Given the description of an element on the screen output the (x, y) to click on. 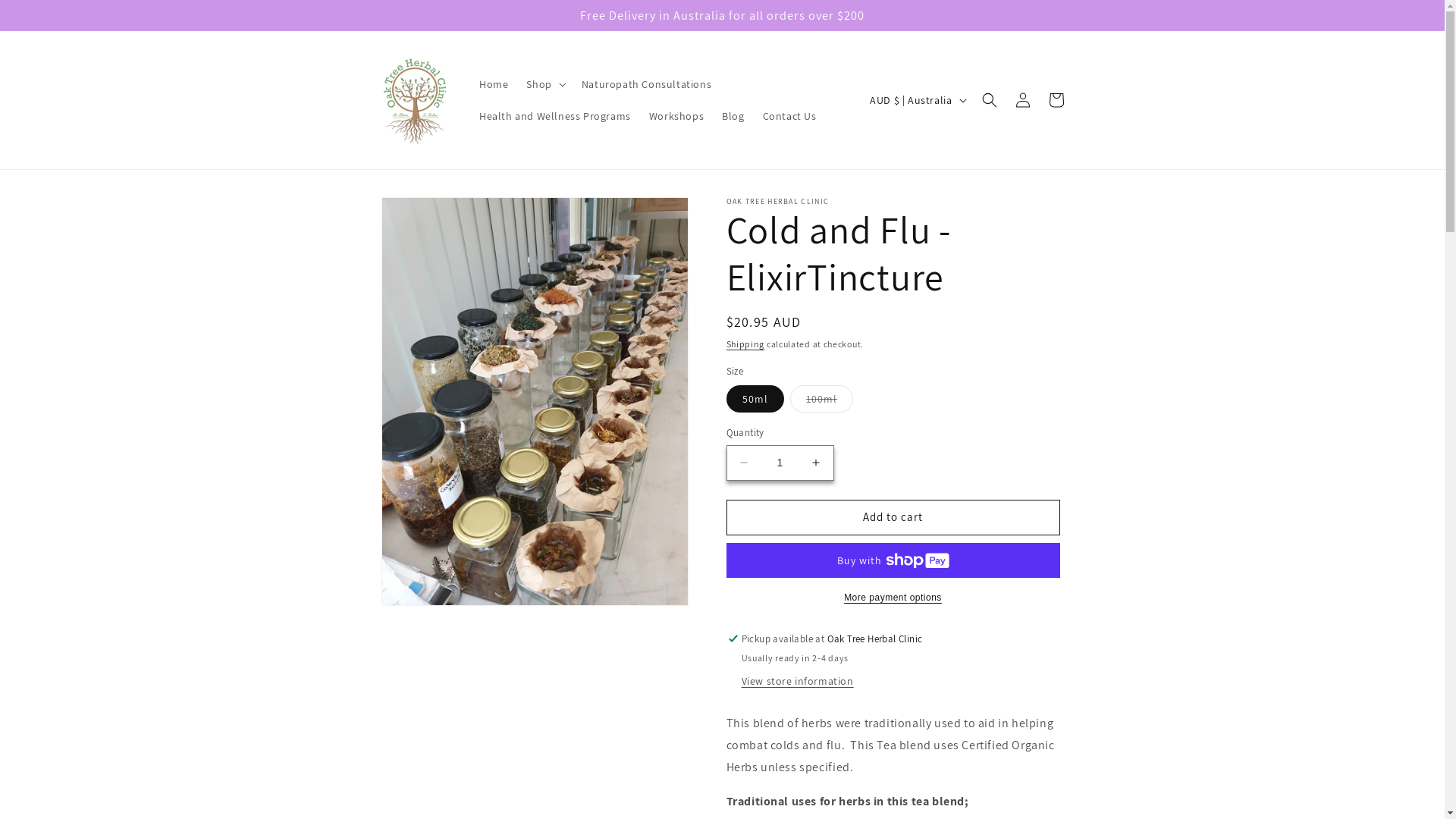
More payment options Element type: text (893, 597)
Health and Wellness Programs Element type: text (555, 115)
Naturopath Consultations Element type: text (646, 84)
Shipping Element type: text (745, 343)
Workshops Element type: text (676, 115)
Skip to product information Element type: text (426, 214)
Contact Us Element type: text (789, 115)
Cart Element type: text (1055, 99)
Log in Element type: text (1021, 99)
Add to cart Element type: text (893, 517)
AUD $ | Australia Element type: text (916, 100)
Blog Element type: text (732, 115)
View store information Element type: text (797, 681)
Decrease quantity for Cold and Flu - ElixirTincture Element type: text (743, 462)
Increase quantity for Cold and Flu - ElixirTincture Element type: text (816, 462)
Home Element type: text (493, 84)
